Given the description of an element on the screen output the (x, y) to click on. 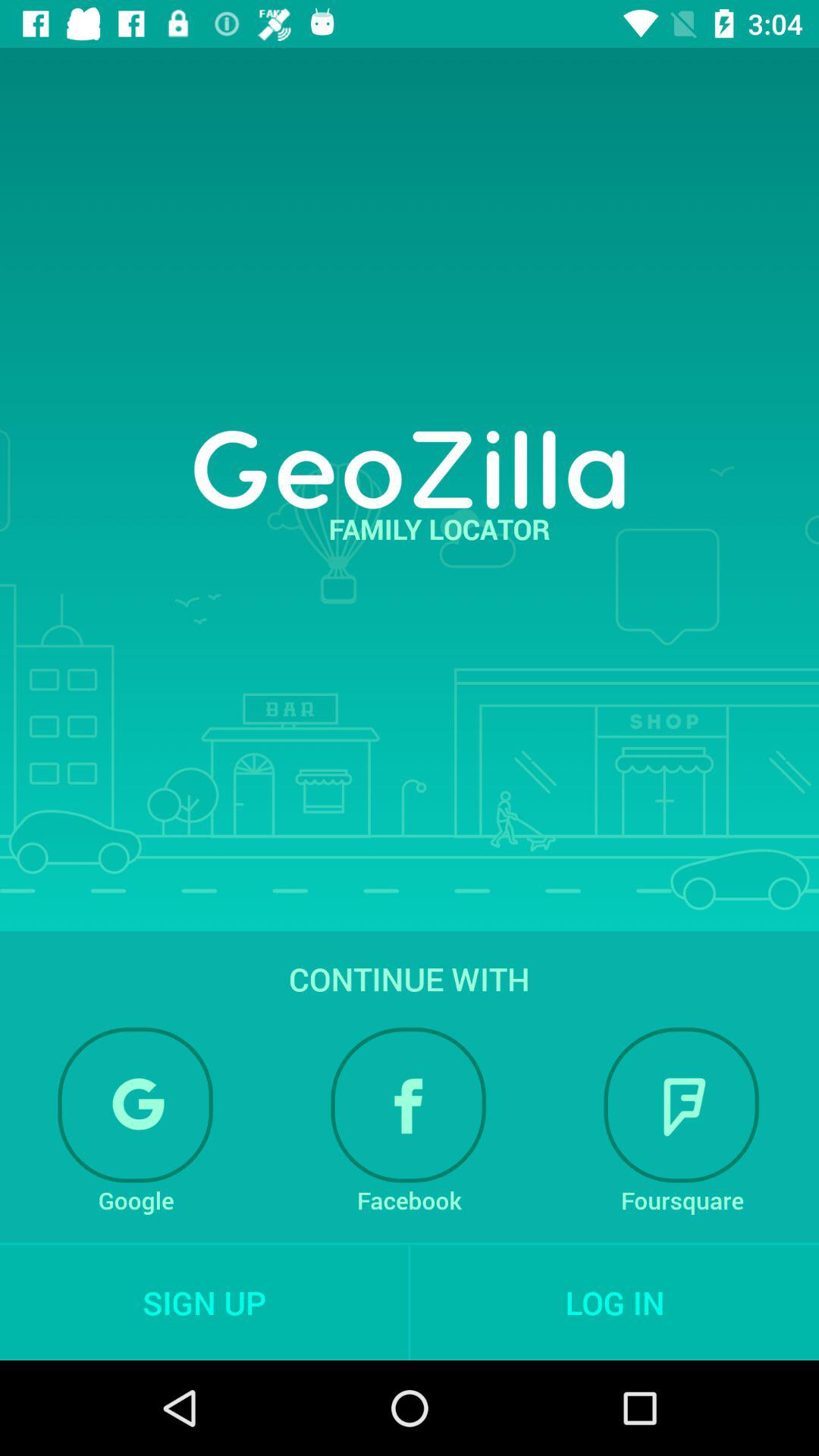
log in with google account (135, 1105)
